Given the description of an element on the screen output the (x, y) to click on. 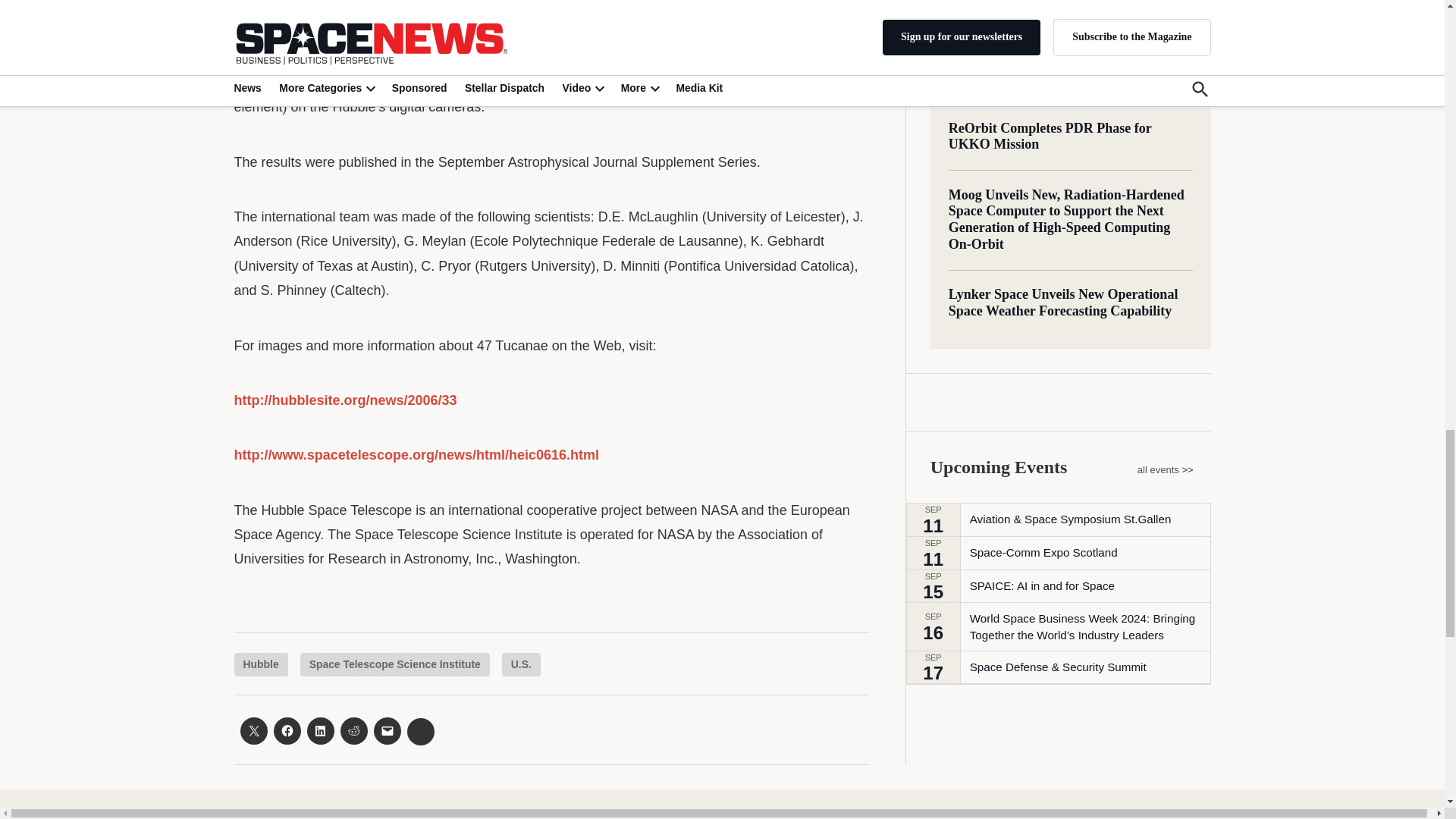
Click to share on X (253, 730)
Click to share on Reddit (352, 730)
Click to email a link to a friend (386, 730)
Click to share on LinkedIn (319, 730)
Click to share on Facebook (286, 730)
Click to share on Clipboard (419, 731)
